Given the description of an element on the screen output the (x, y) to click on. 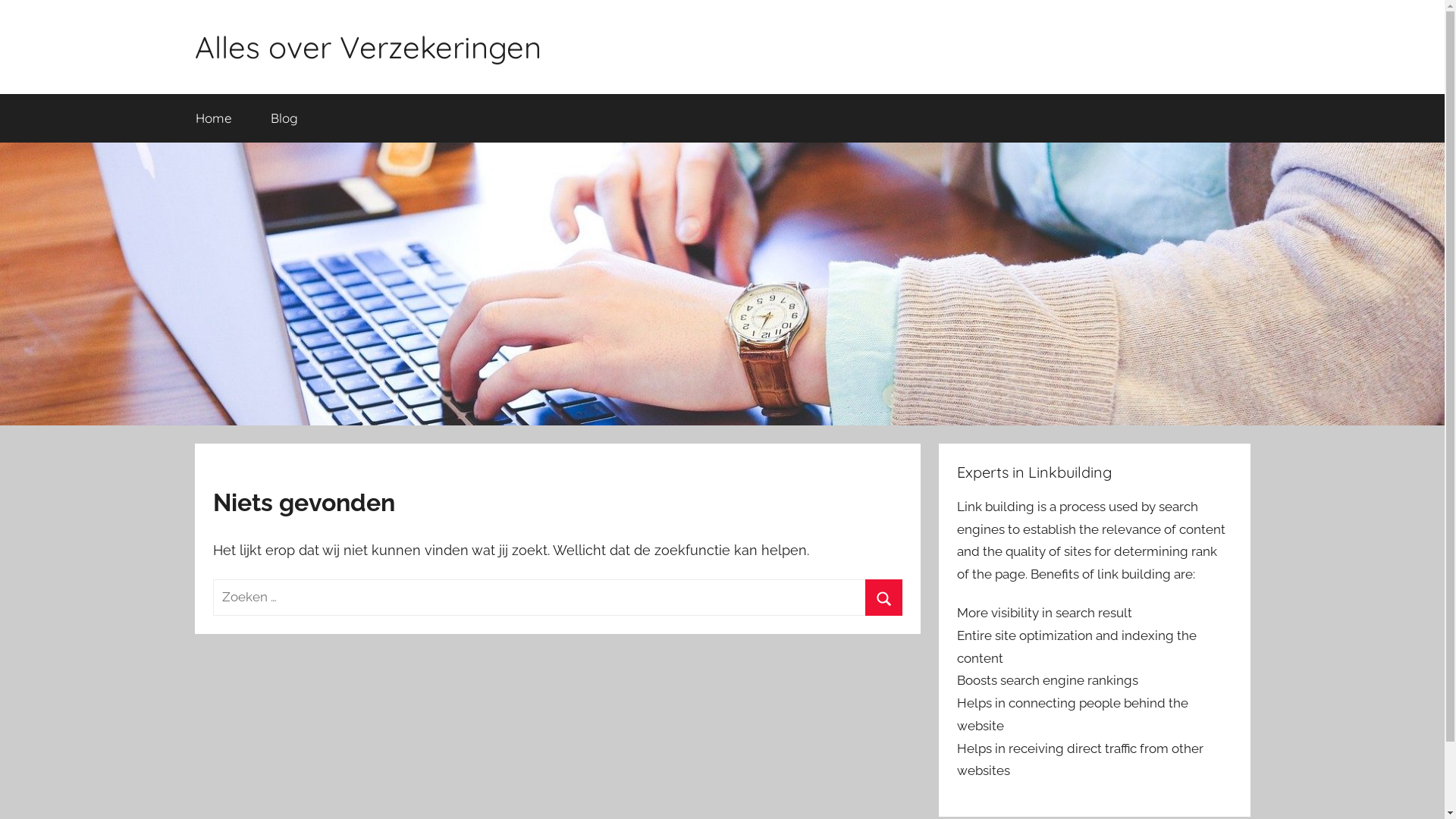
Zoeken naar: Element type: hover (557, 597)
Zoeken Element type: text (883, 597)
Alles over Verzekeringen Element type: text (367, 46)
Blog Element type: text (284, 118)
Home Element type: text (213, 118)
